Given the description of an element on the screen output the (x, y) to click on. 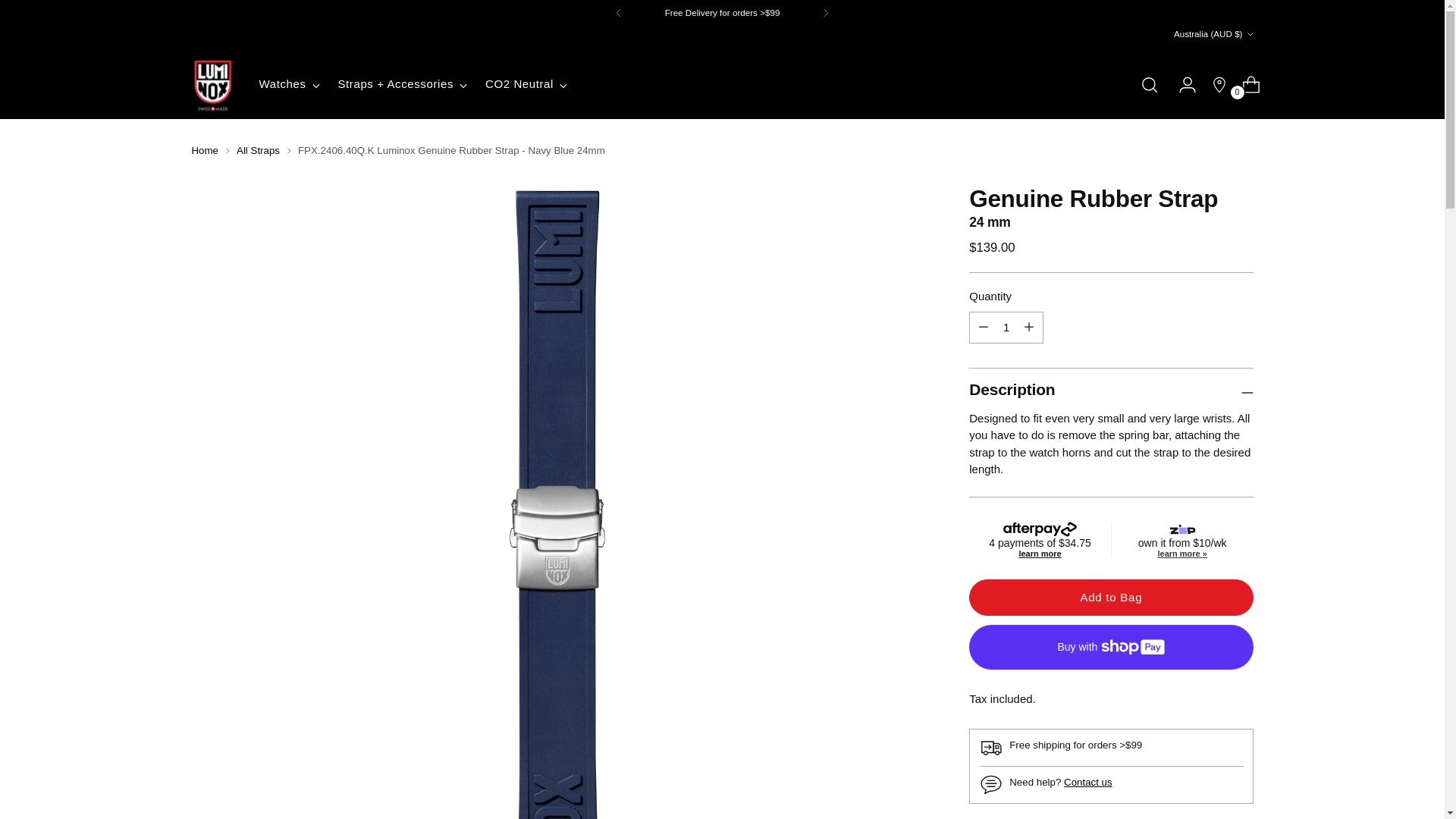
Watches (289, 84)
Previous (618, 12)
Next (826, 12)
1 (1006, 327)
Zip - Own it now, Pay later (1182, 539)
